Given the description of an element on the screen output the (x, y) to click on. 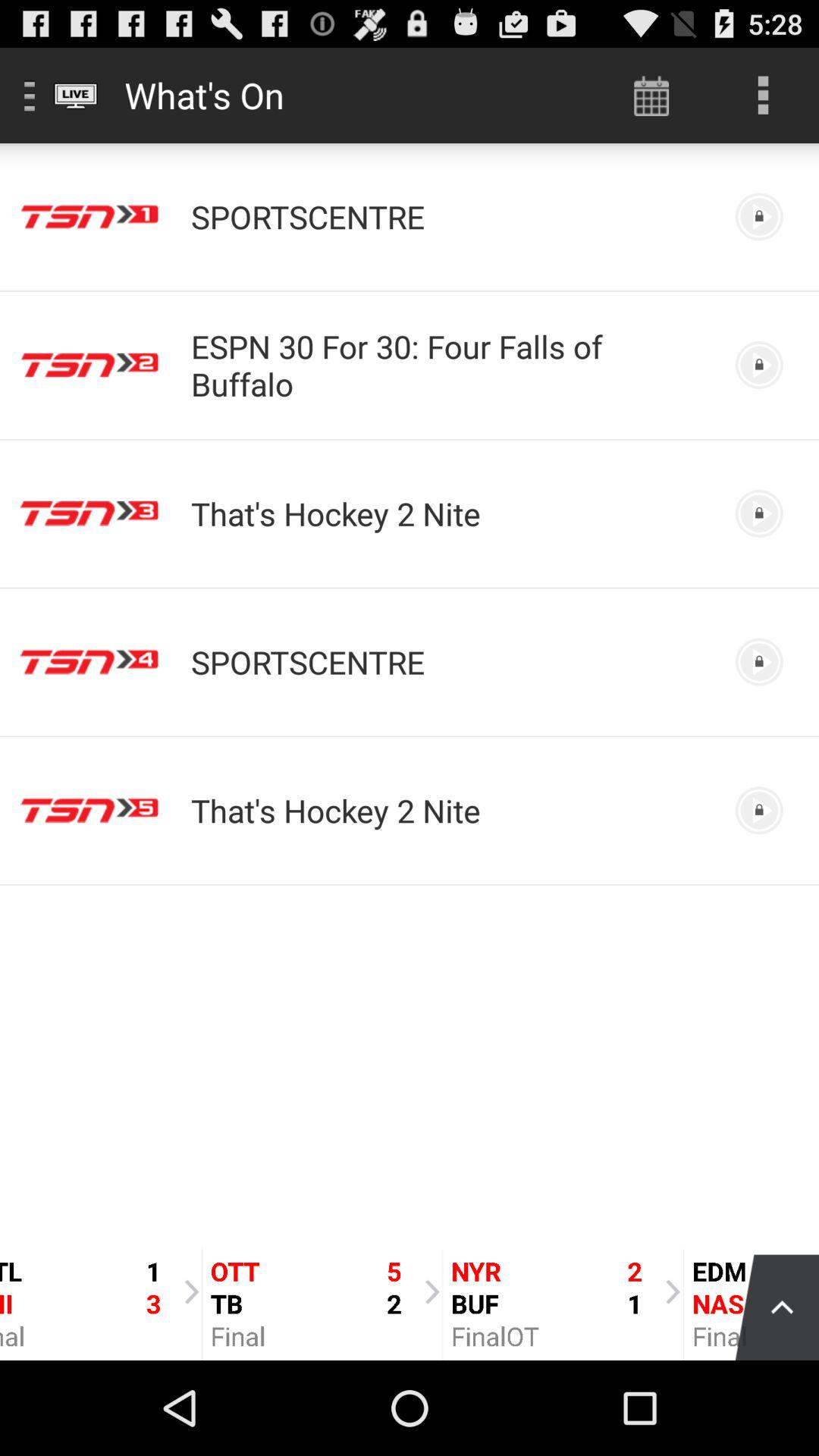
calendar view (651, 95)
